Given the description of an element on the screen output the (x, y) to click on. 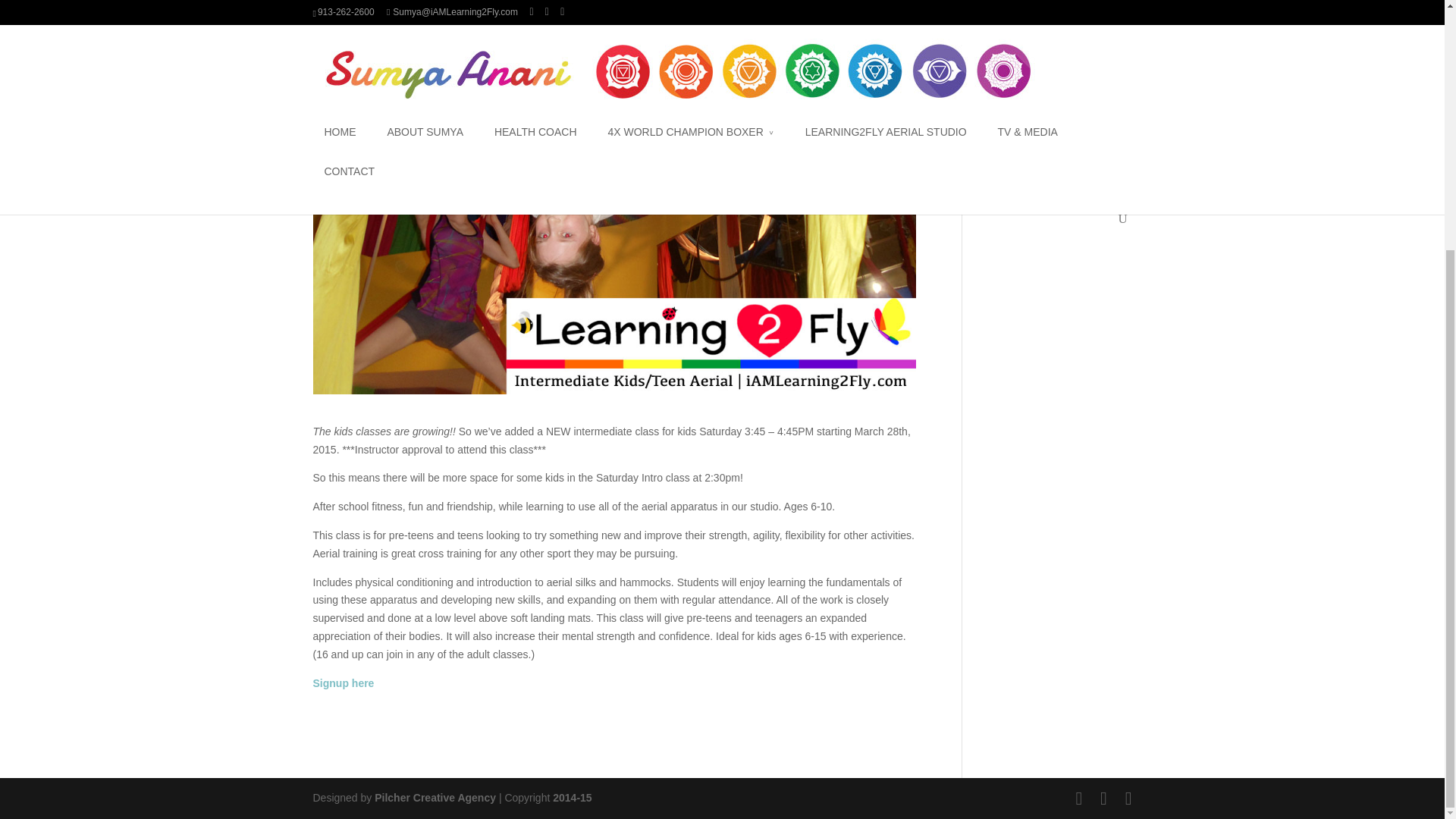
Pilcher Creative Agency (435, 797)
Premium WordPress Themes (435, 797)
Signup here (343, 683)
